Given the description of an element on the screen output the (x, y) to click on. 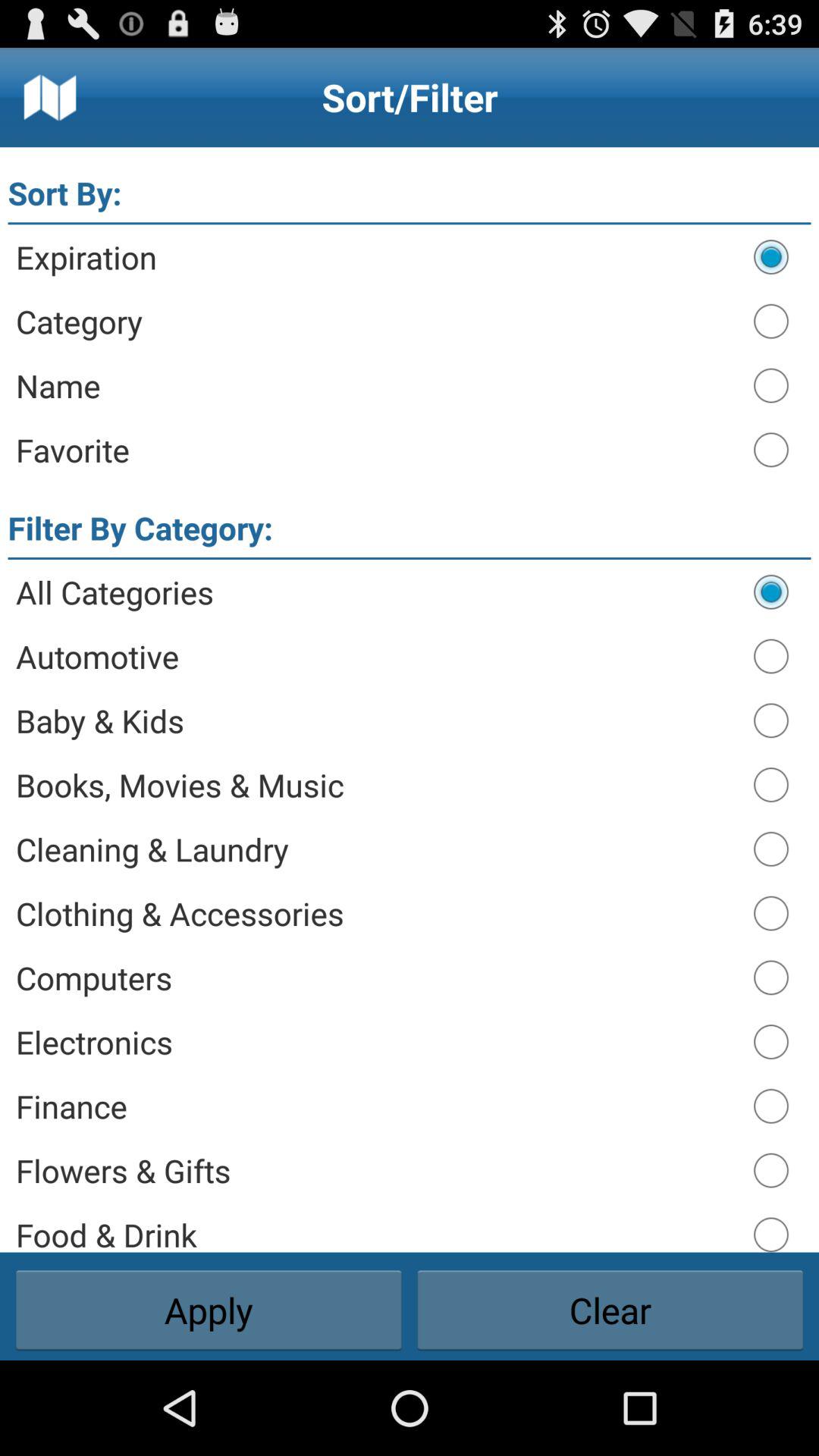
scroll to flowers & gifts icon (377, 1170)
